Given the description of an element on the screen output the (x, y) to click on. 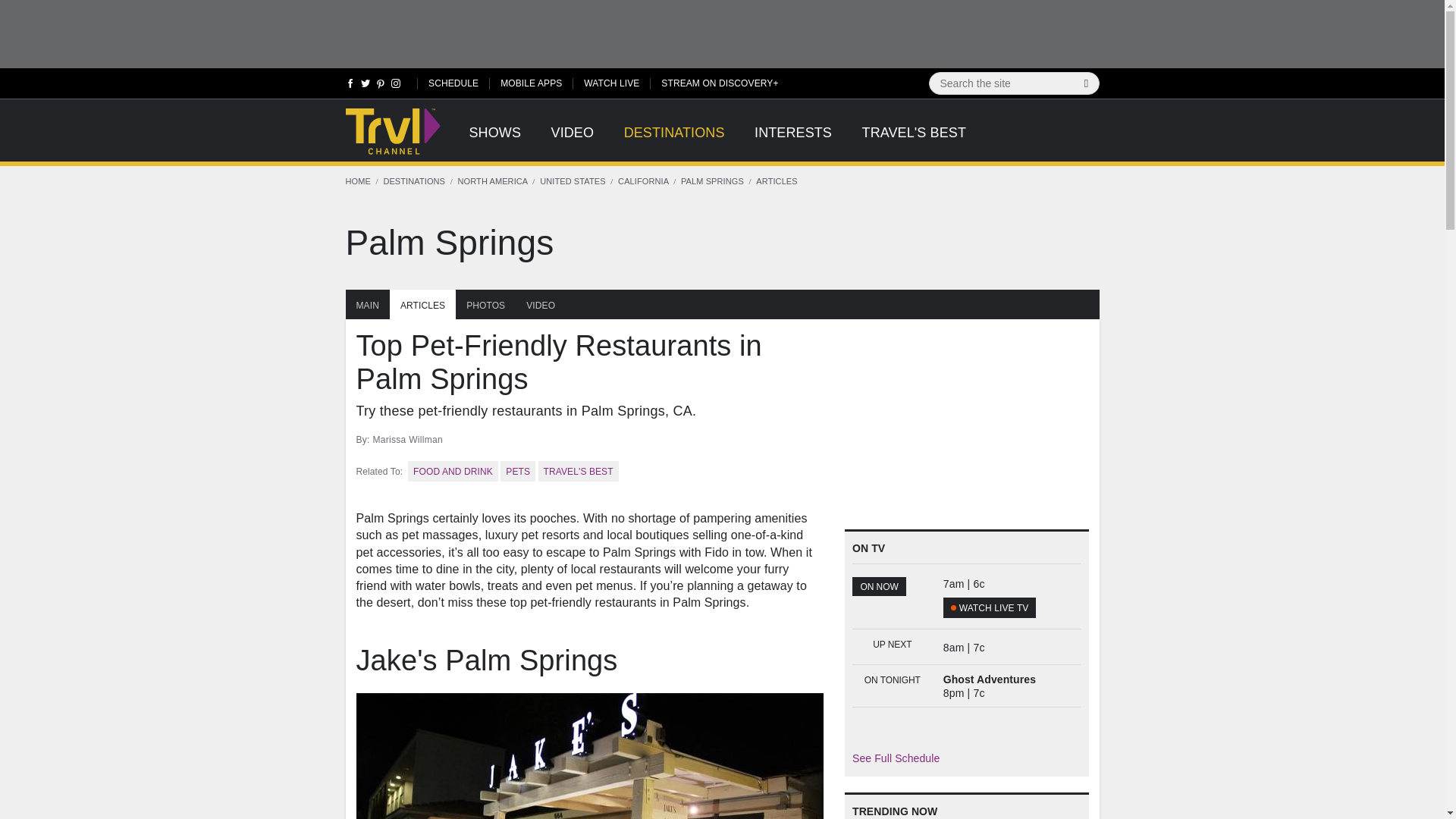
Follow us on Instagram (394, 86)
MOBILE APPS (531, 81)
Follow us on Facebook (350, 86)
Follow us on Pinterest (380, 86)
SHOWS (494, 140)
WATCH LIVE (611, 81)
SCHEDULE (453, 81)
Follow us on Twitter (365, 86)
